Given the description of an element on the screen output the (x, y) to click on. 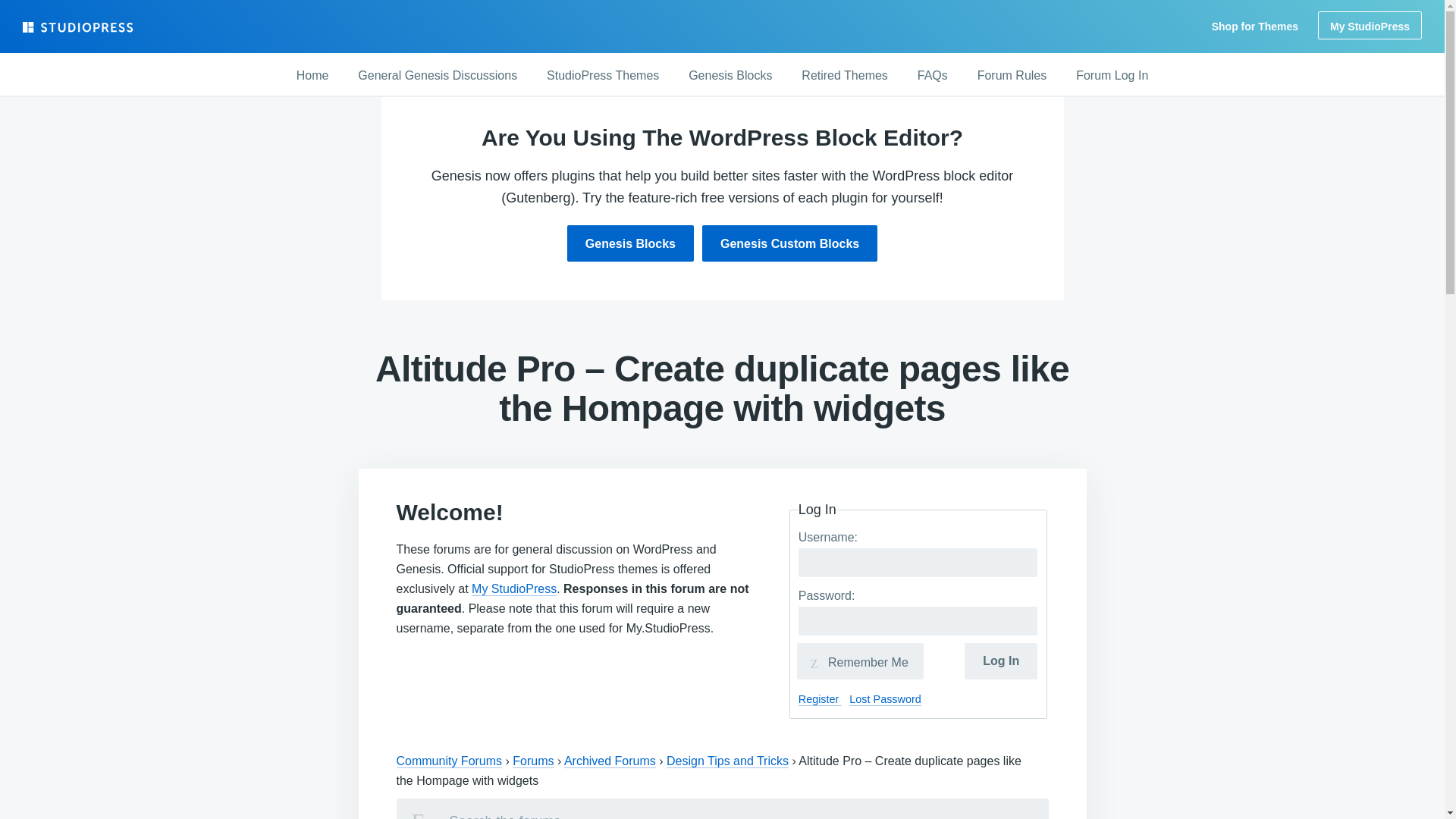
Community Forums (449, 761)
My StudioPress (513, 589)
Lost Password (884, 698)
Genesis Blocks (729, 75)
FAQs (932, 75)
Genesis Blocks (630, 242)
Forum Rules (1011, 75)
Forum Log In (1112, 75)
Genesis Custom Blocks (789, 242)
Lost Password (884, 698)
